Given the description of an element on the screen output the (x, y) to click on. 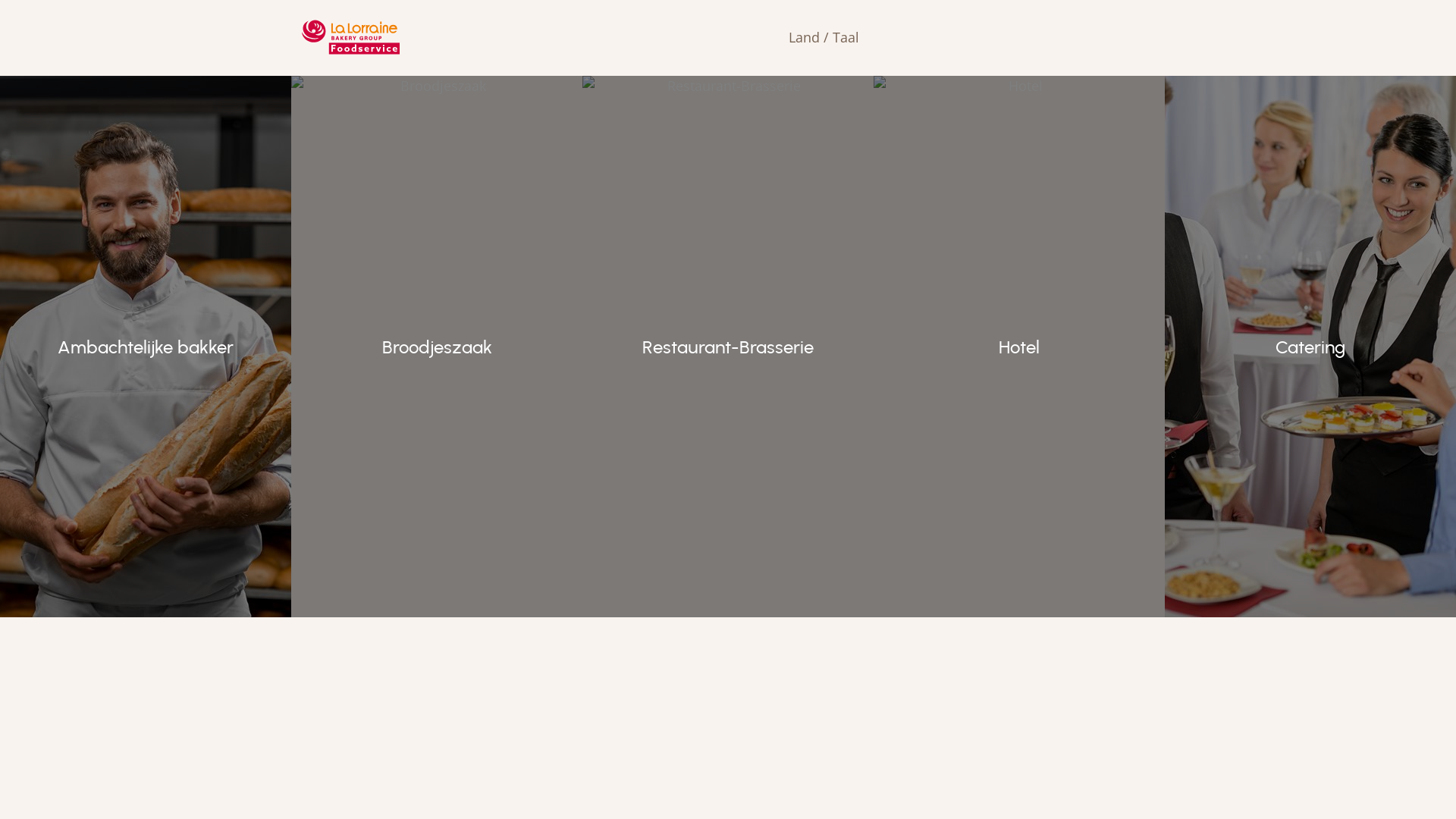
Hotel Element type: text (1018, 346)
Restaurant-Brasserie Element type: text (727, 346)
Ambachtelijke bakker Element type: text (145, 346)
Broodjeszaak Element type: text (436, 346)
